Given the description of an element on the screen output the (x, y) to click on. 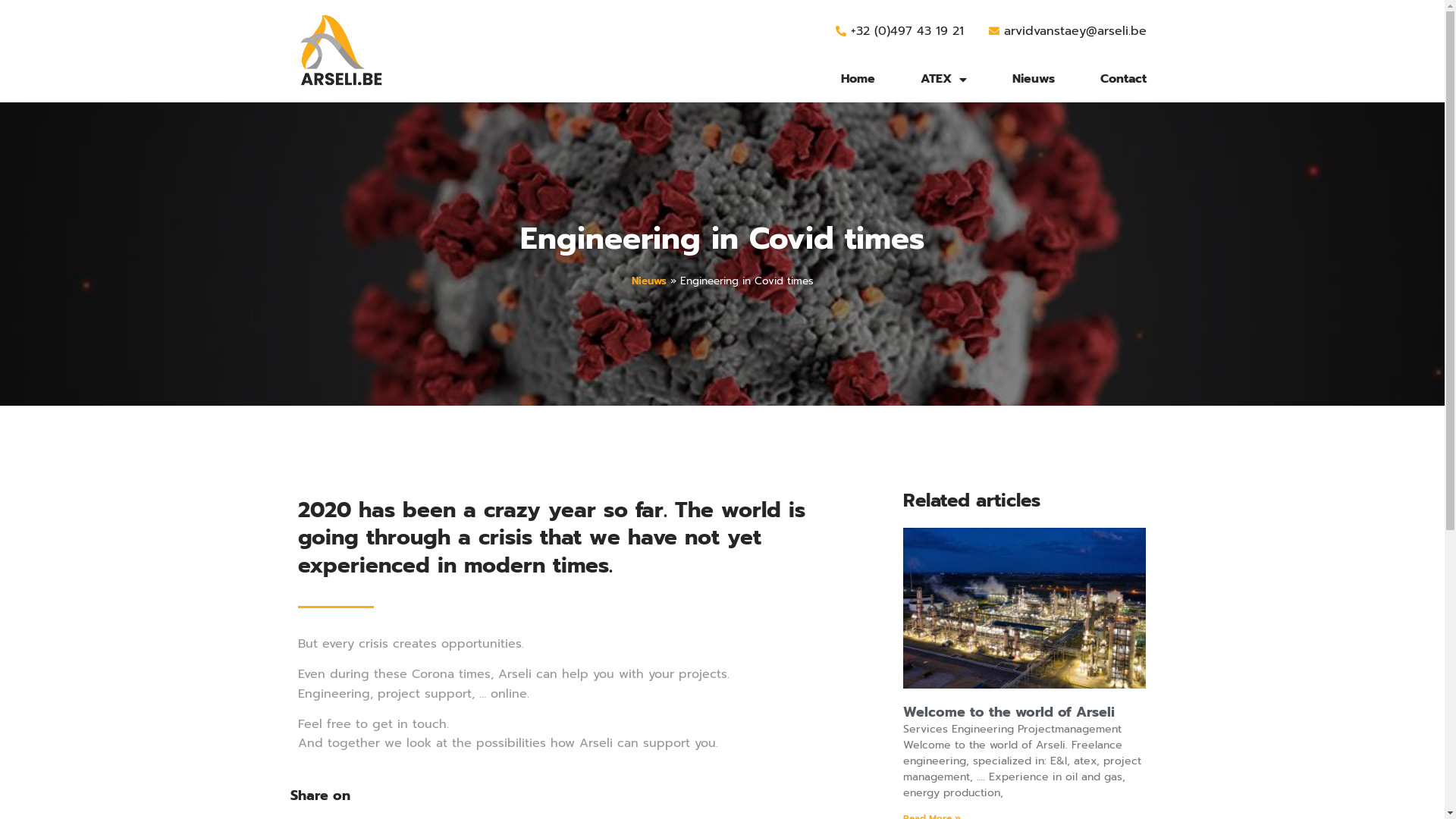
Nieuws Element type: text (647, 280)
Home Element type: text (857, 79)
Nieuws Element type: text (1033, 79)
Contact Element type: text (1123, 79)
ATEX Element type: text (943, 79)
arvidvanstaey@arseli.be Element type: text (1066, 31)
Welcome to the world of Arseli Element type: text (1007, 711)
+32 (0)497 43 19 21 Element type: text (897, 31)
